Given the description of an element on the screen output the (x, y) to click on. 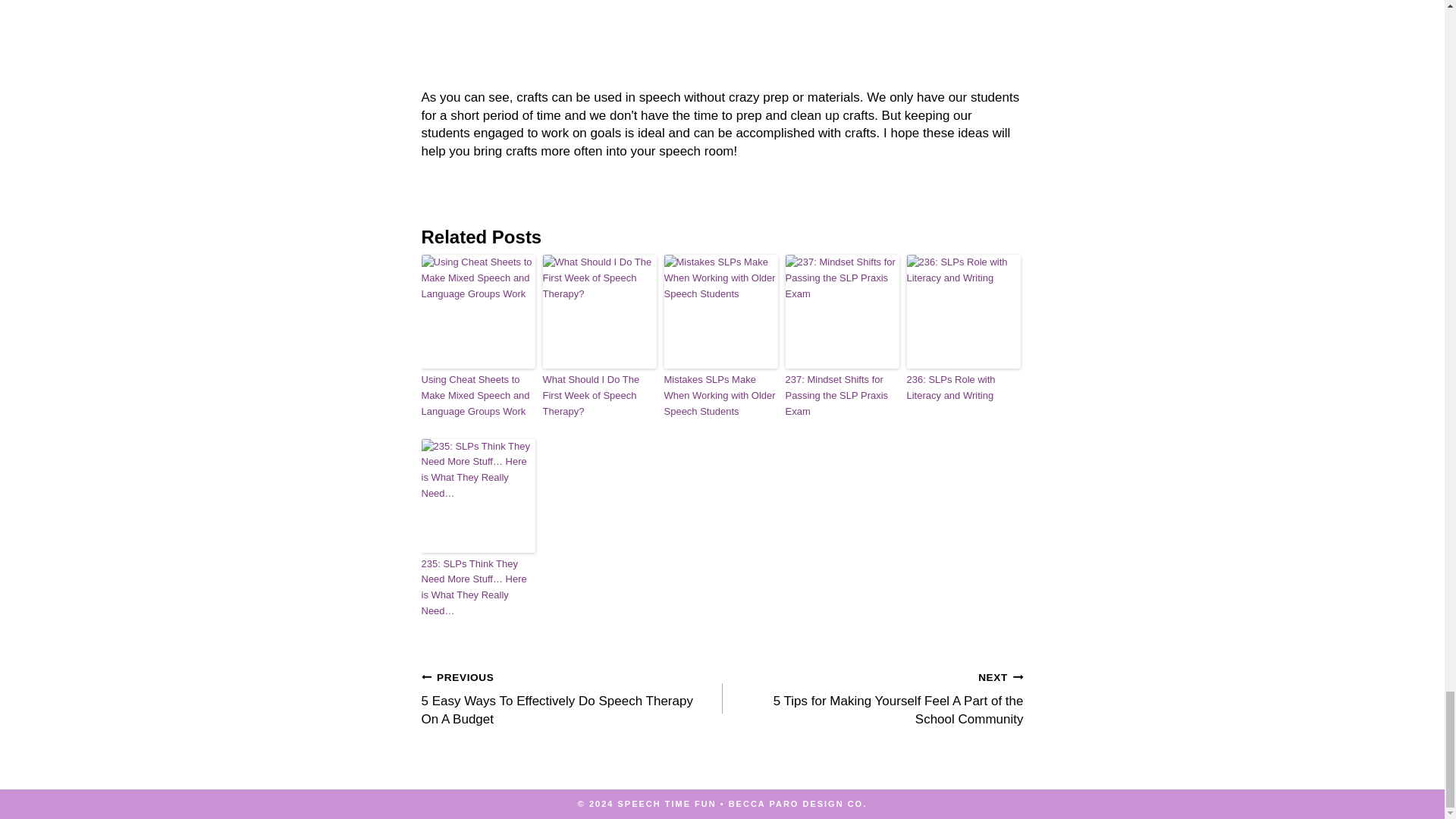
236: SLPs Role with Literacy and Writing (963, 388)
What Should I Do The First Week of Speech Therapy? (599, 395)
Mistakes SLPs Make When Working with Older Speech Students (720, 395)
237: Mindset Shifts for Passing the SLP Praxis Exam (842, 395)
